Given the description of an element on the screen output the (x, y) to click on. 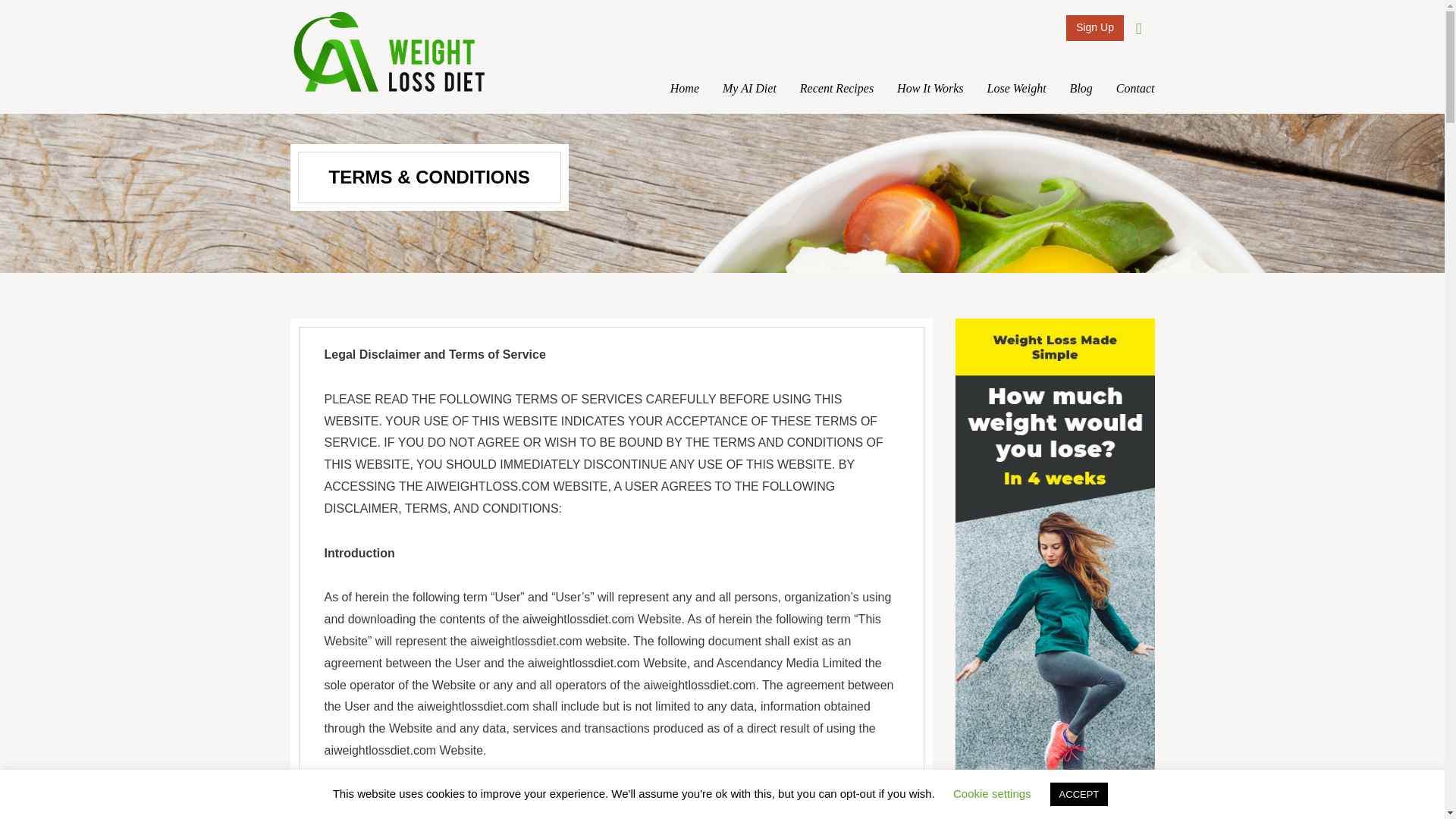
My AI Diet (749, 88)
Recent Recipes (836, 88)
Lose Weight (1016, 88)
How It Works (929, 88)
Sign Up (1094, 27)
